Given the description of an element on the screen output the (x, y) to click on. 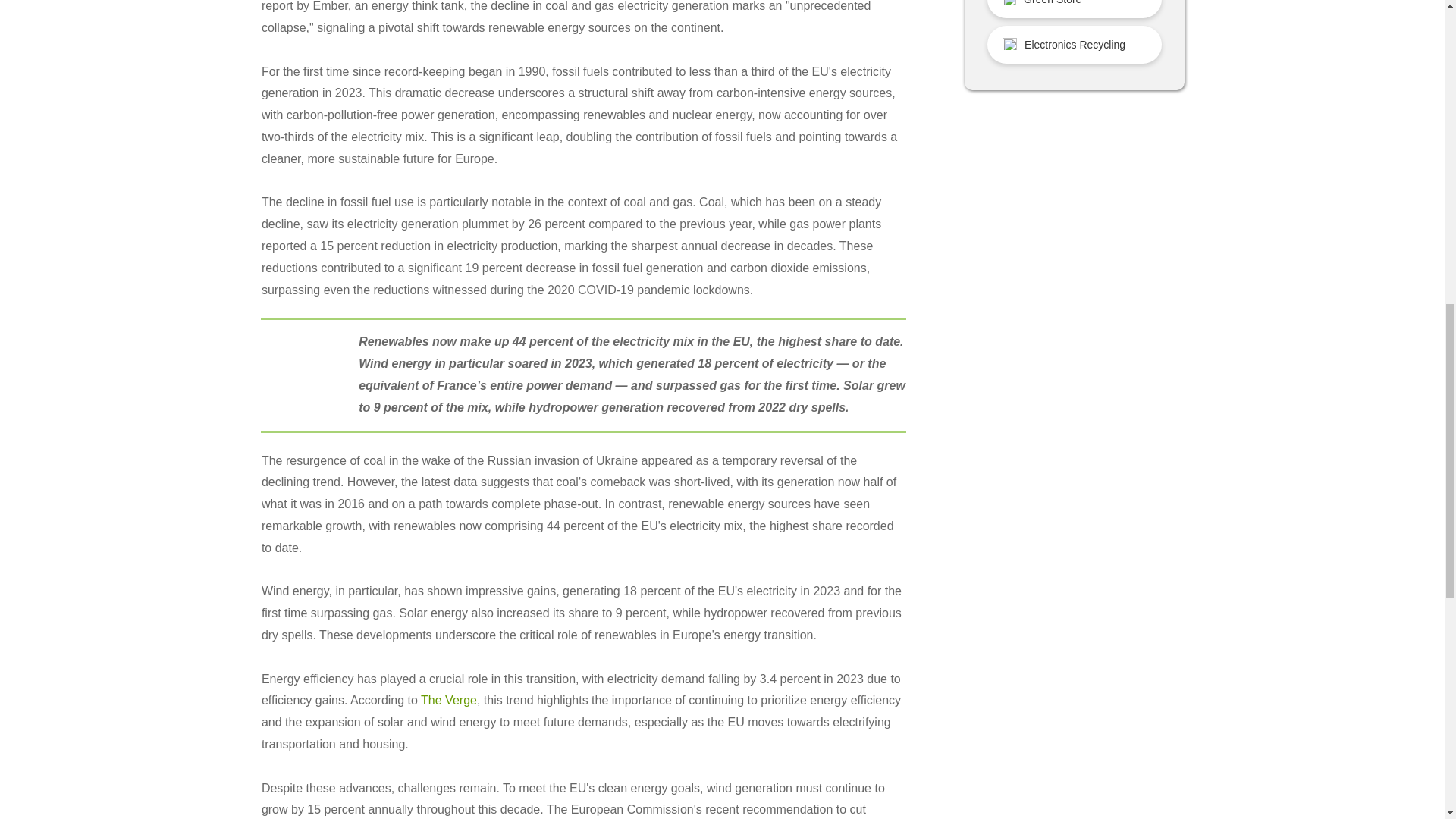
statement (302, 369)
